Given the description of an element on the screen output the (x, y) to click on. 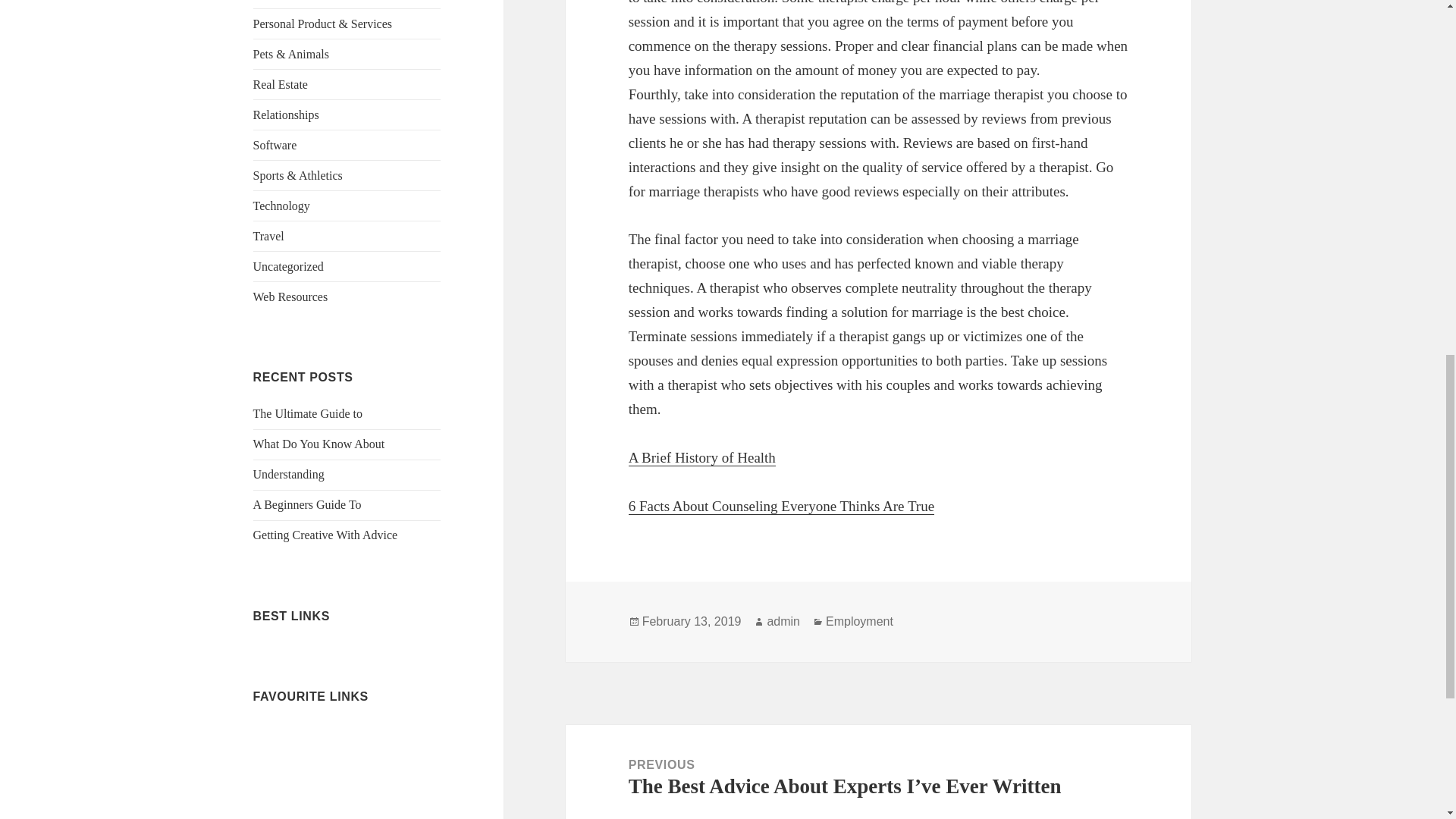
6 Facts About Counseling Everyone Thinks Are True (781, 506)
Relationships (285, 114)
Travel (268, 236)
Getting Creative With Advice (325, 534)
What Do You Know About (319, 443)
February 13, 2019 (691, 621)
Understanding (288, 473)
Real Estate (280, 83)
Web Resources (291, 296)
A Brief History of Health (702, 457)
